Given the description of an element on the screen output the (x, y) to click on. 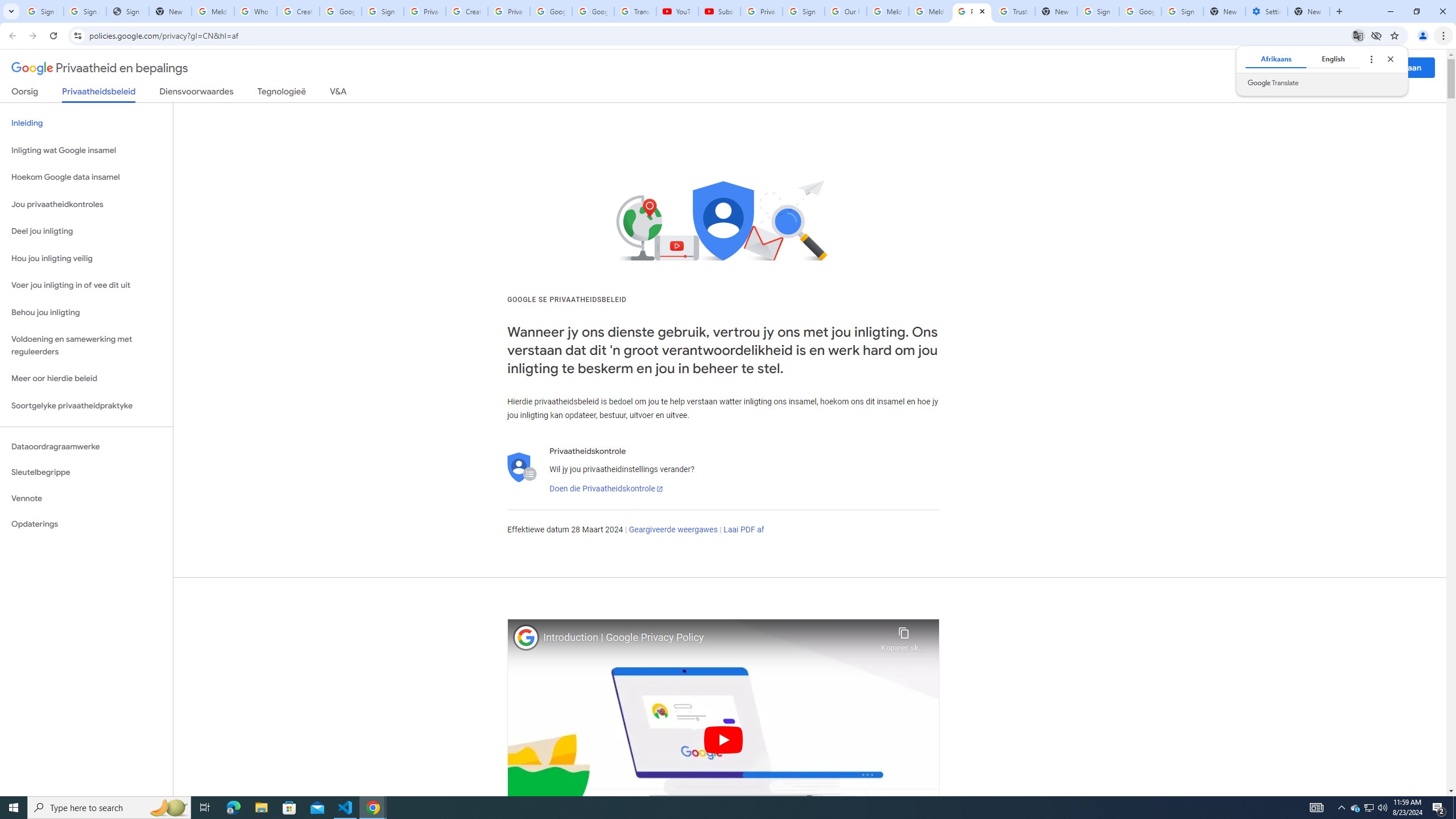
Voldoening en samewerking met reguleerders (86, 345)
Create your Google Account (298, 11)
Voer jou inligting in of vee dit uit (86, 284)
YouTube (676, 11)
Sign in - Google Accounts (1182, 11)
Privaatheidsbeleid (98, 94)
Jou privaatheidkontroles (86, 204)
Laai PDF af (743, 529)
Geargiveerde weergawes (672, 529)
